Given the description of an element on the screen output the (x, y) to click on. 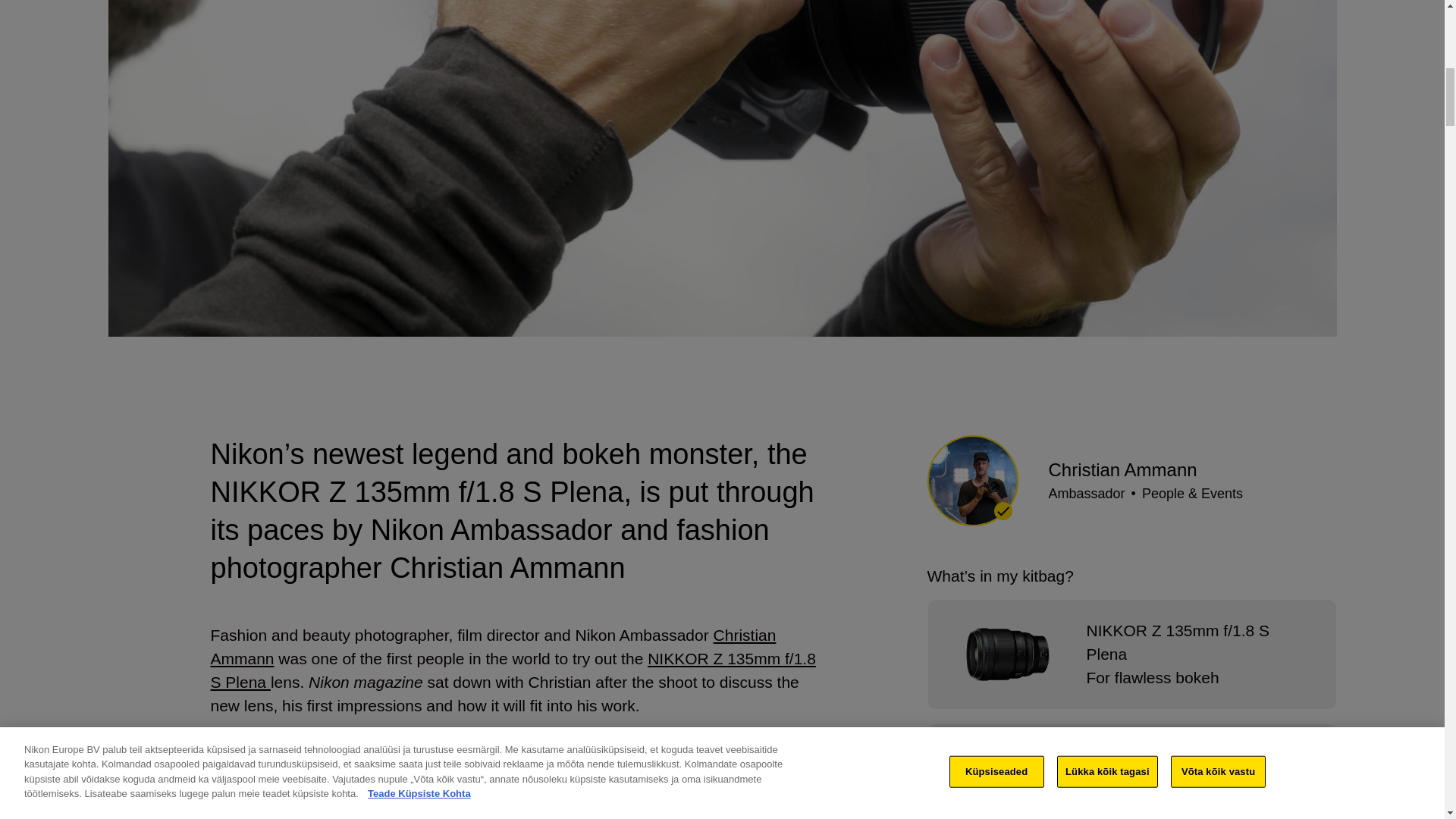
Christian Ammann (493, 646)
